Given the description of an element on the screen output the (x, y) to click on. 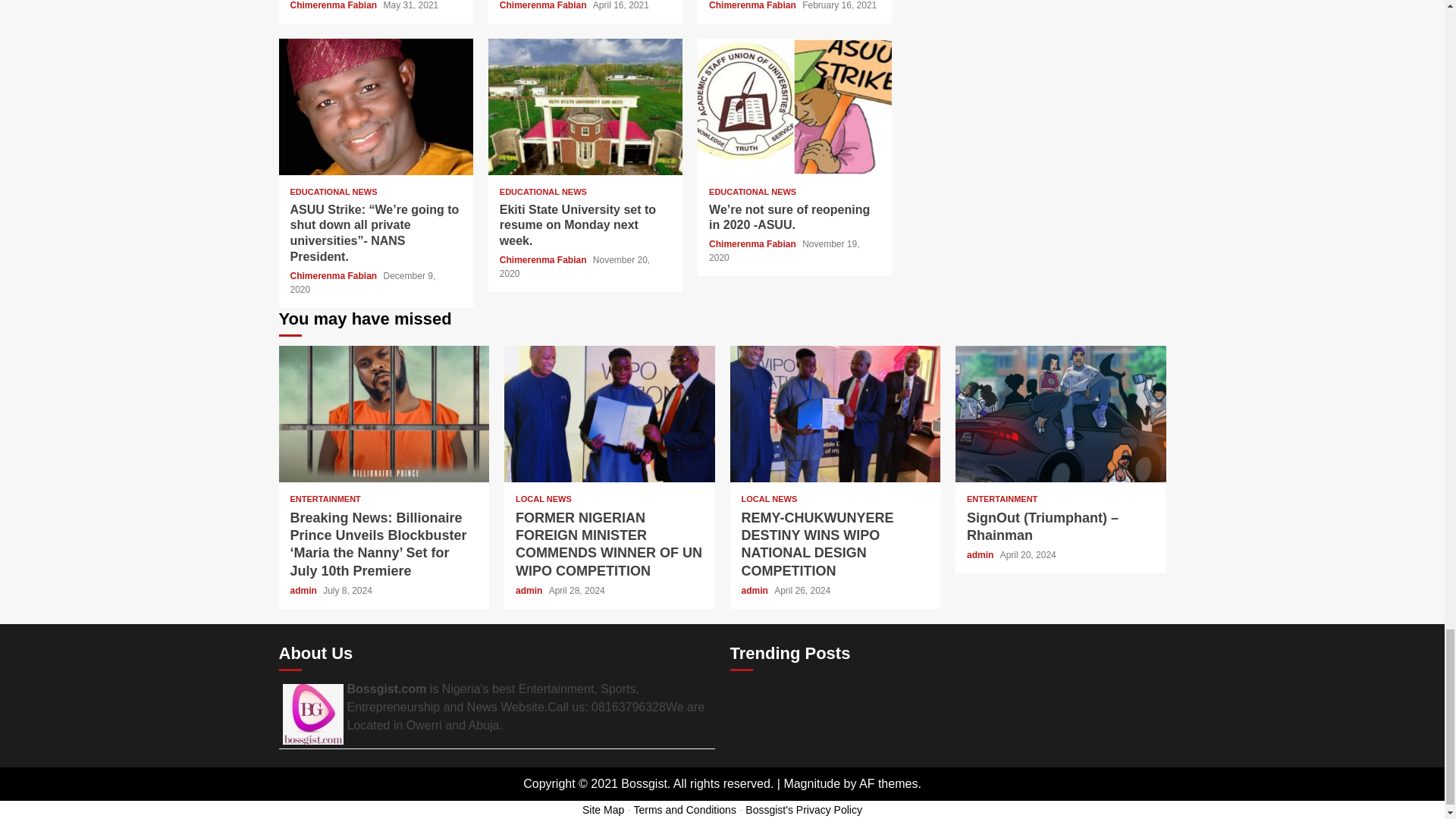
Chimerenma Fabian (753, 5)
EDUCATIONAL NEWS (333, 192)
EDUCATIONAL NEWS (542, 192)
Chimerenma Fabian (333, 5)
Ekiti State University set to resume on Monday next week. (584, 106)
Chimerenma Fabian (544, 5)
Chimerenma Fabian (333, 276)
